Given the description of an element on the screen output the (x, y) to click on. 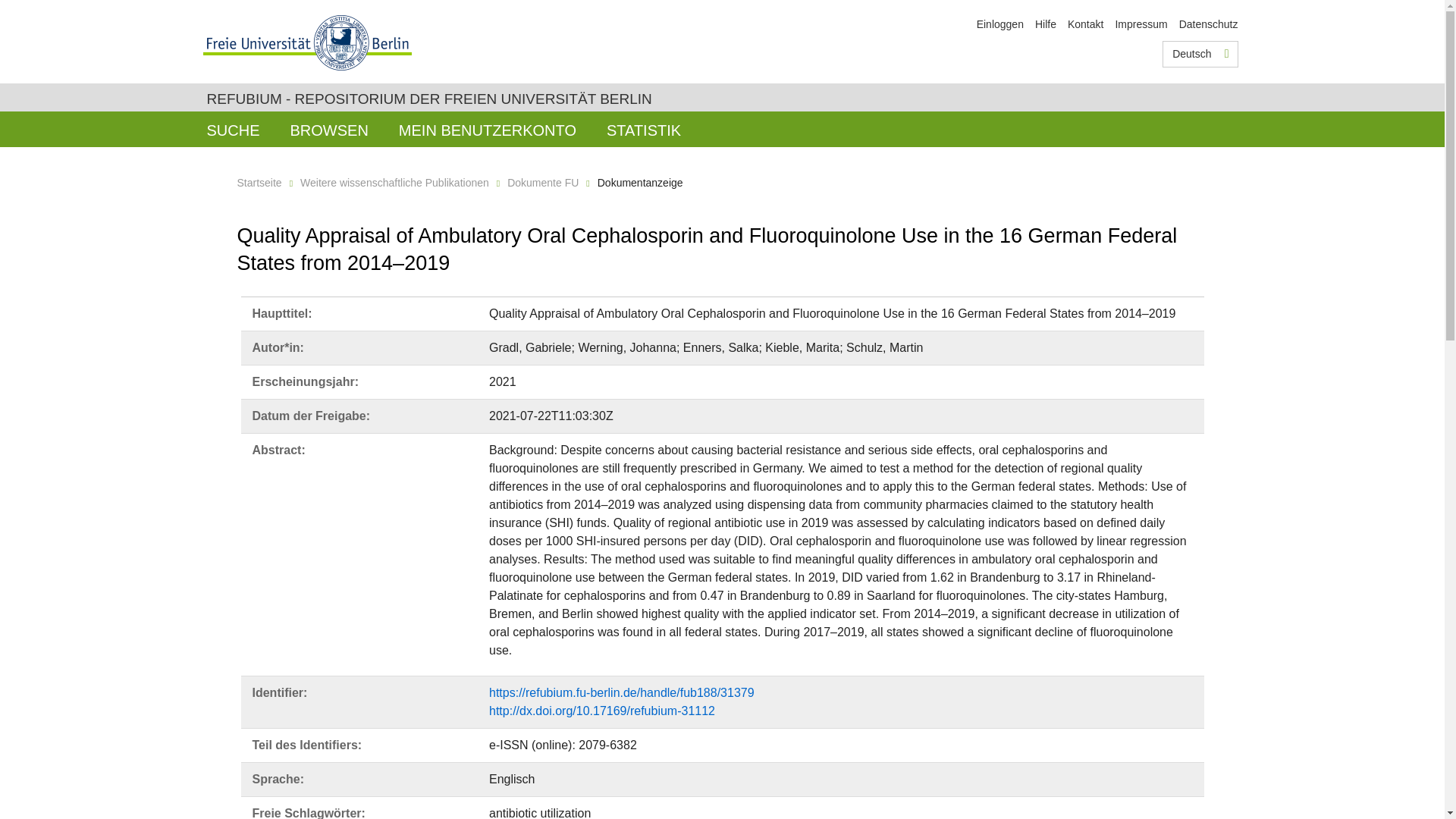
Weitere wissenschaftliche Publikationen (394, 182)
Dokumente FU (542, 182)
SUCHE (232, 129)
Einloggen (999, 24)
MEIN BENUTZERKONTO (487, 129)
STATISTIK (643, 129)
Startseite (258, 182)
Datenschutz (1209, 24)
Kontakt (1085, 24)
Impressum (1141, 24)
Zur Startseite von: Refubium (428, 98)
BROWSEN (329, 129)
Hilfe (1046, 24)
